Given the description of an element on the screen output the (x, y) to click on. 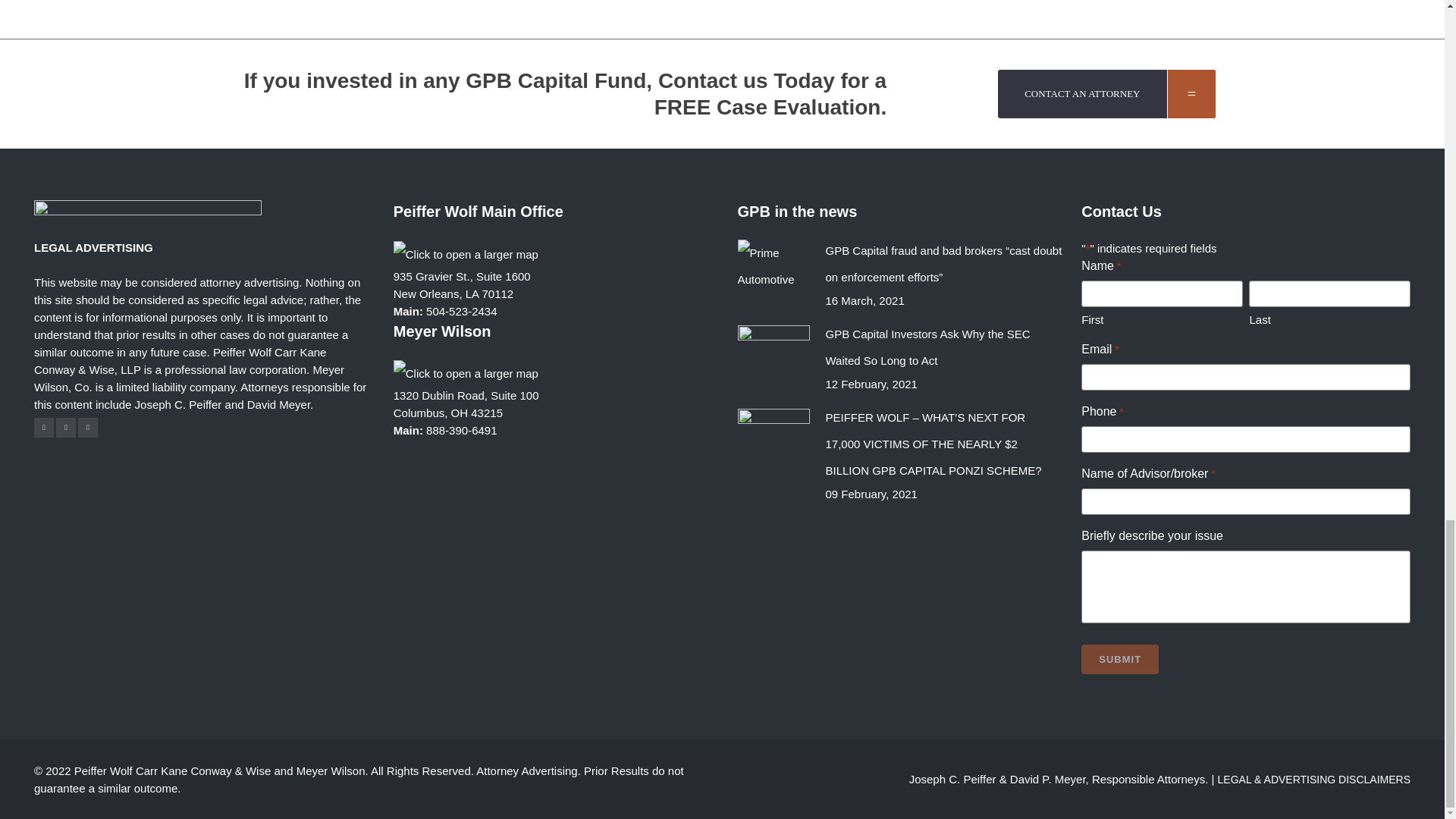
Submit (1119, 659)
Click to open a larger map (465, 373)
Click to open a larger map (465, 252)
Click to open a larger map (465, 372)
Click to open a larger map (465, 253)
